Given the description of an element on the screen output the (x, y) to click on. 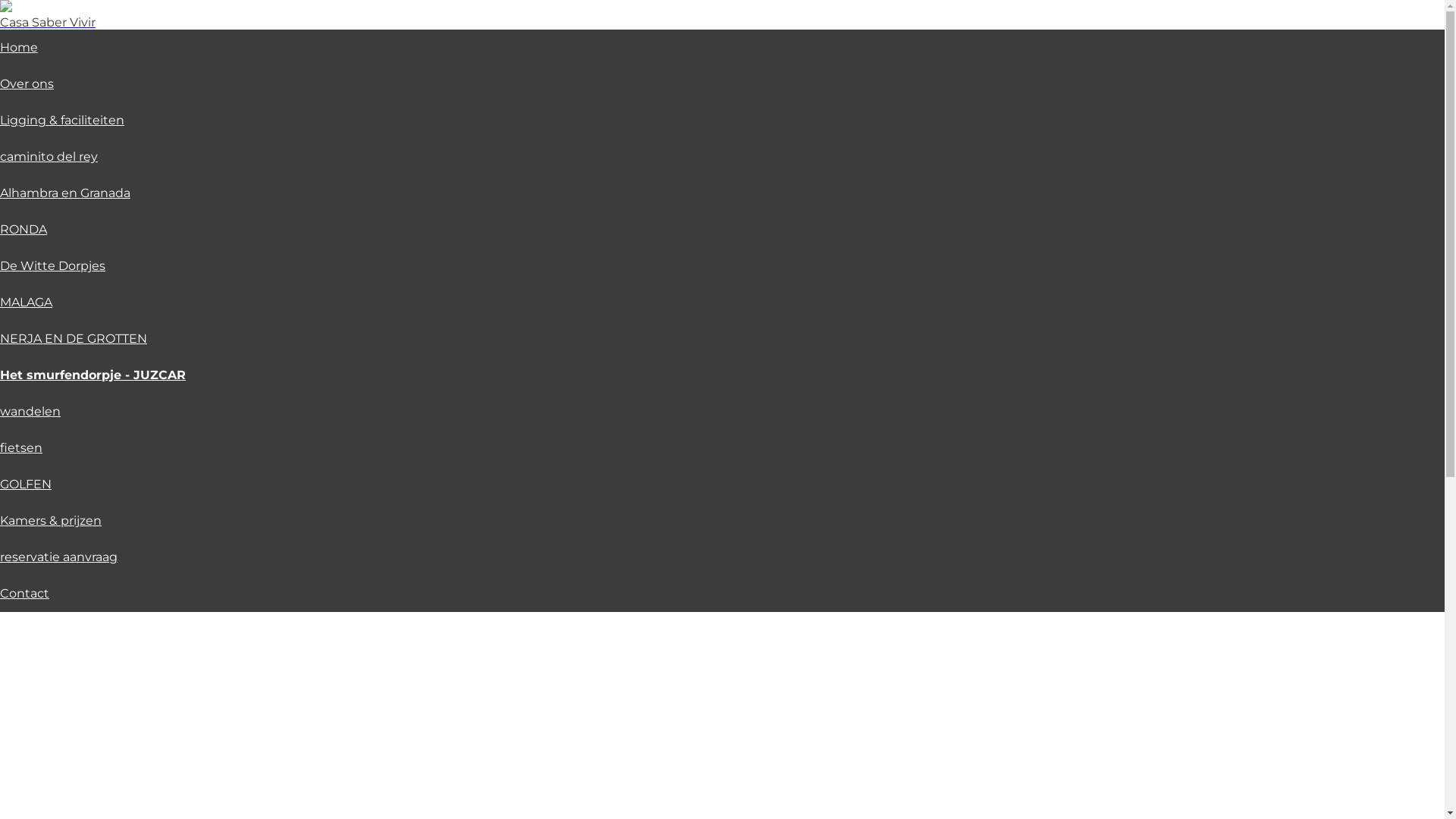
Home Element type: text (18, 47)
MALAGA Element type: text (26, 301)
Contact Element type: text (24, 593)
caminito del rey Element type: text (48, 156)
GOLFEN Element type: text (25, 483)
Casa Saber Vivir Element type: text (47, 21)
Ligging & faciliteiten Element type: text (62, 119)
wandelen Element type: text (30, 411)
NERJA EN DE GROTTEN Element type: text (73, 338)
Het smurfendorpje - JUZCAR Element type: text (92, 374)
De Witte Dorpjes Element type: text (52, 265)
fietsen Element type: text (21, 447)
Kamers & prijzen Element type: text (50, 520)
Alhambra en Granada Element type: text (65, 192)
Over ons Element type: text (26, 83)
RONDA Element type: text (23, 229)
reservatie aanvraag Element type: text (58, 556)
